Given the description of an element on the screen output the (x, y) to click on. 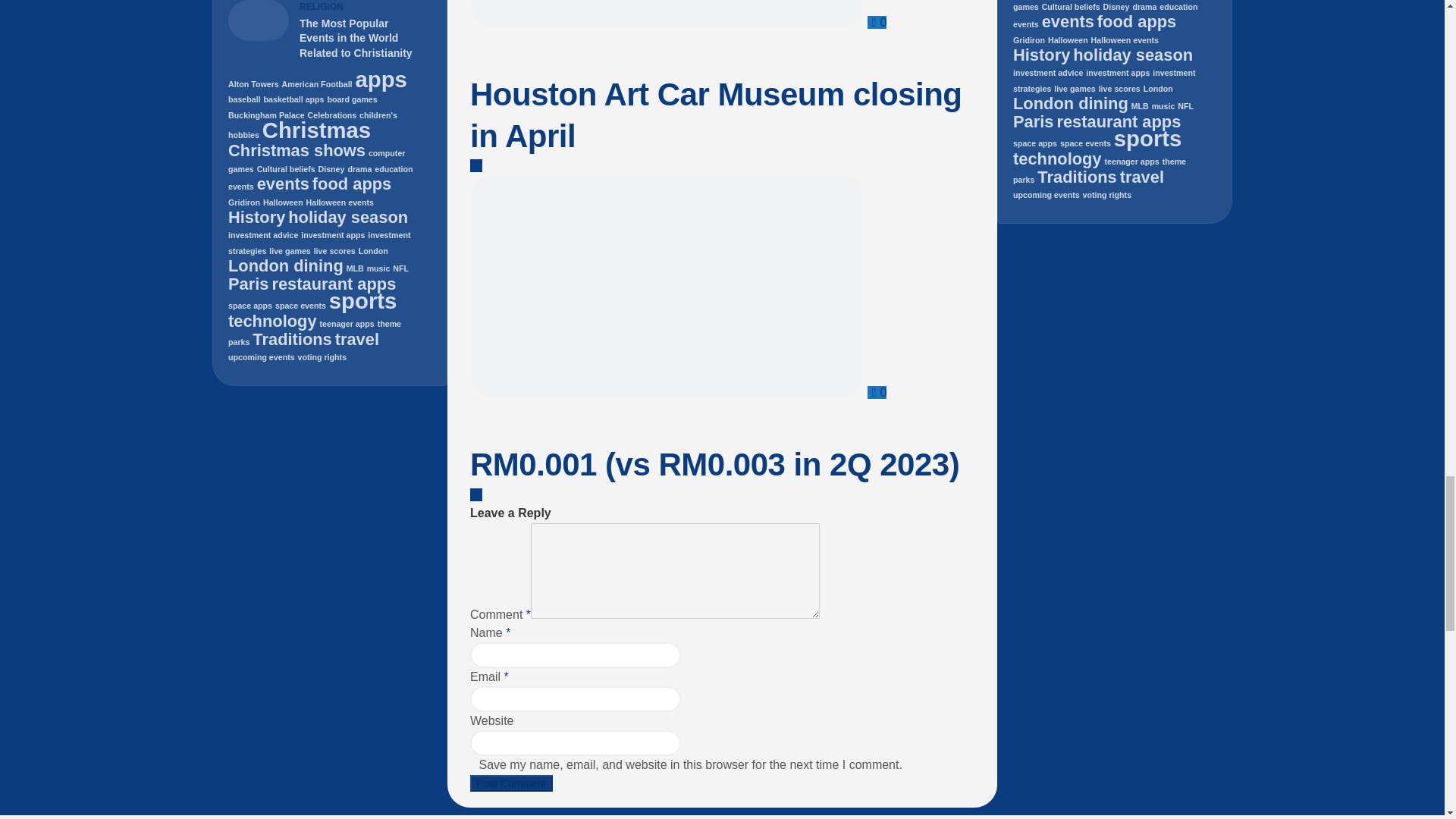
Post Comment (511, 782)
